Given the description of an element on the screen output the (x, y) to click on. 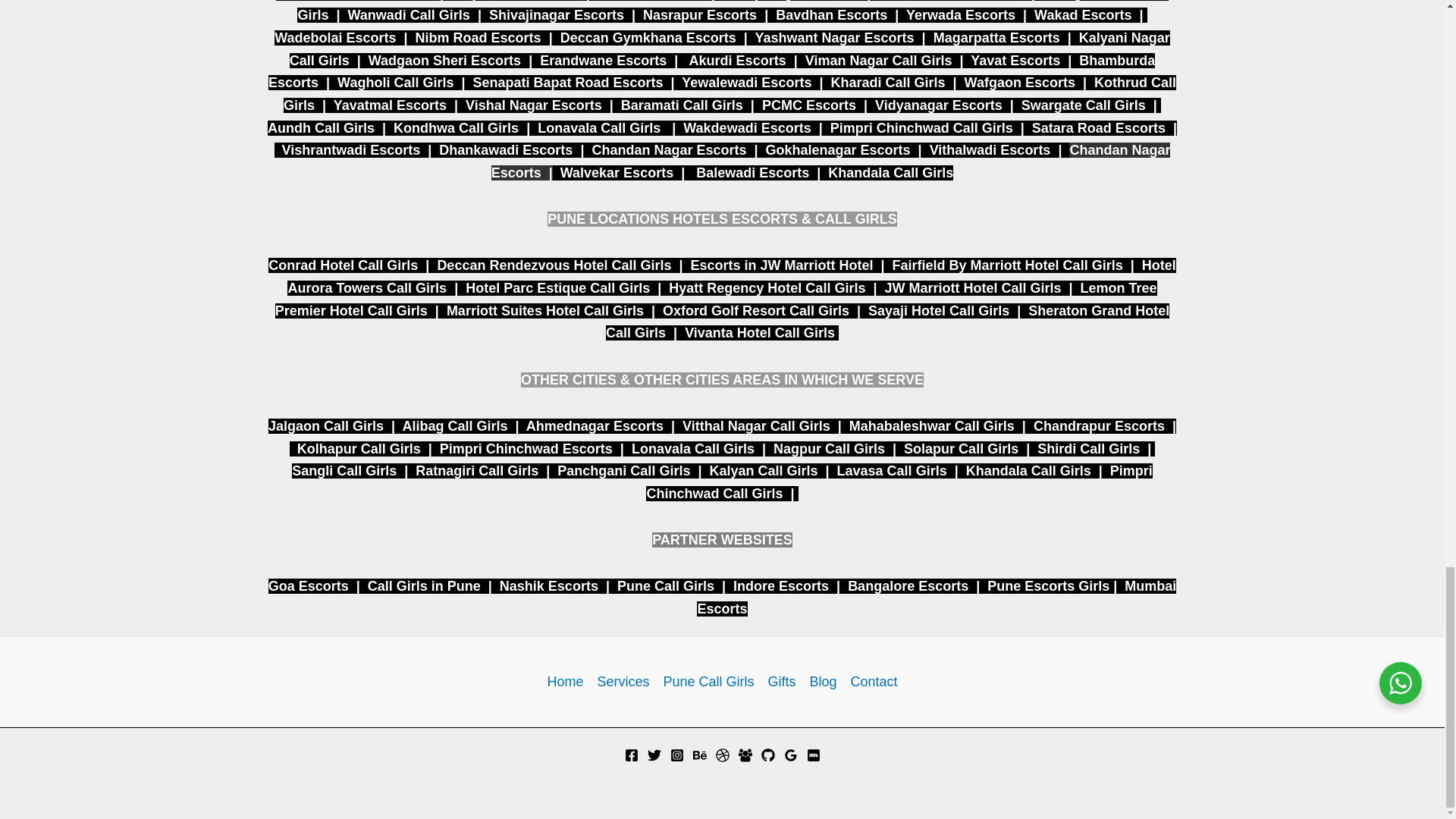
Nibm Road Escorts (477, 37)
Magarpatta Escorts (996, 37)
Bavdhan Escorts (831, 14)
Yerwada Escorts (959, 14)
Wanwadi Call Girls (408, 14)
Deccan Gymkhana Escorts (648, 37)
Koregaon Park Call Girls (733, 11)
Wadebolai Escorts (335, 37)
Wakad Escorts (1082, 14)
Erandwane Escorts (603, 60)
Yashwant Nagar Escorts (834, 37)
Kalyani Nagar Call Girls (729, 48)
